Given the description of an element on the screen output the (x, y) to click on. 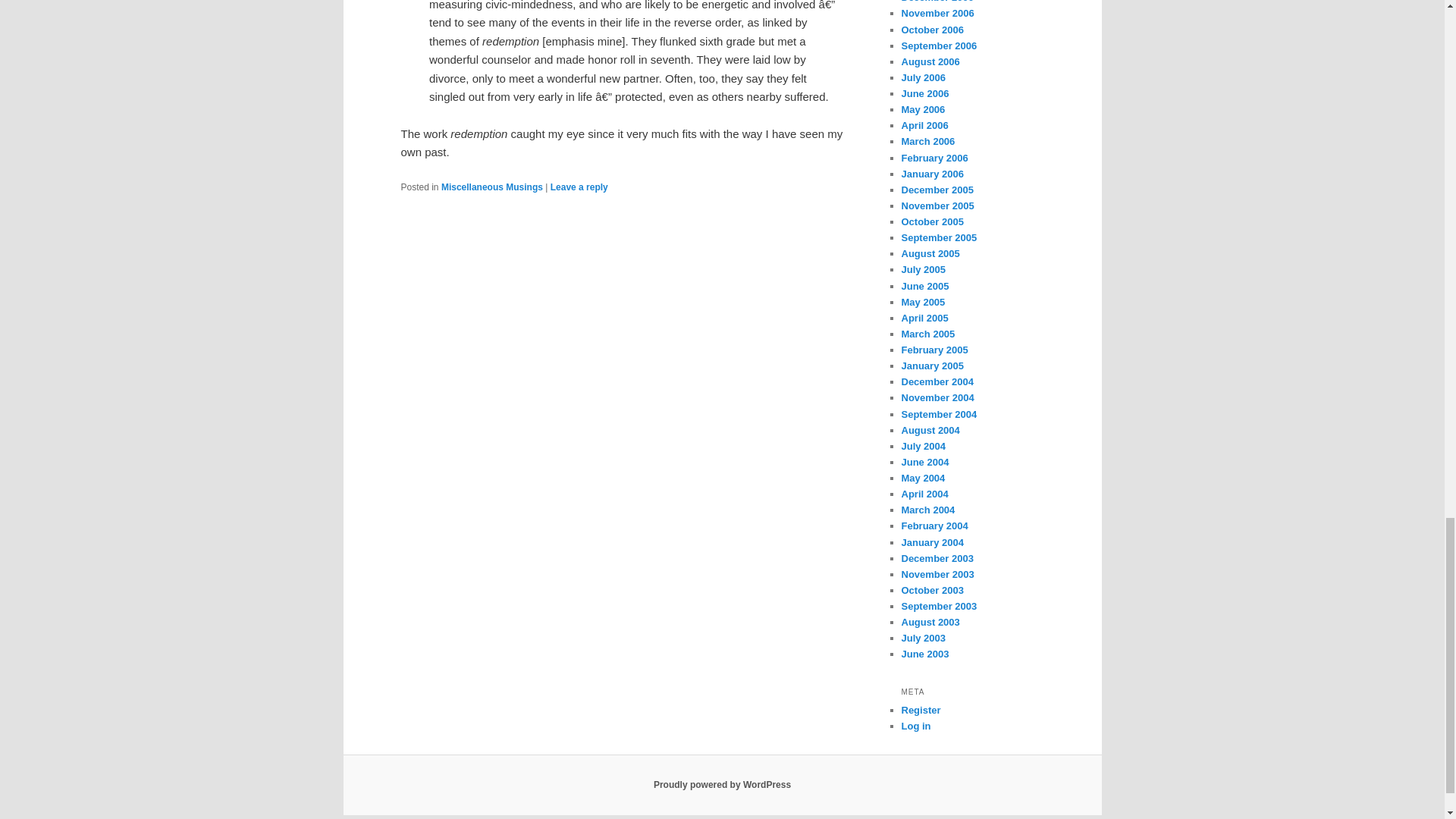
Leave a reply (579, 186)
Semantic Personal Publishing Platform (721, 784)
Miscellaneous Musings (492, 186)
